Given the description of an element on the screen output the (x, y) to click on. 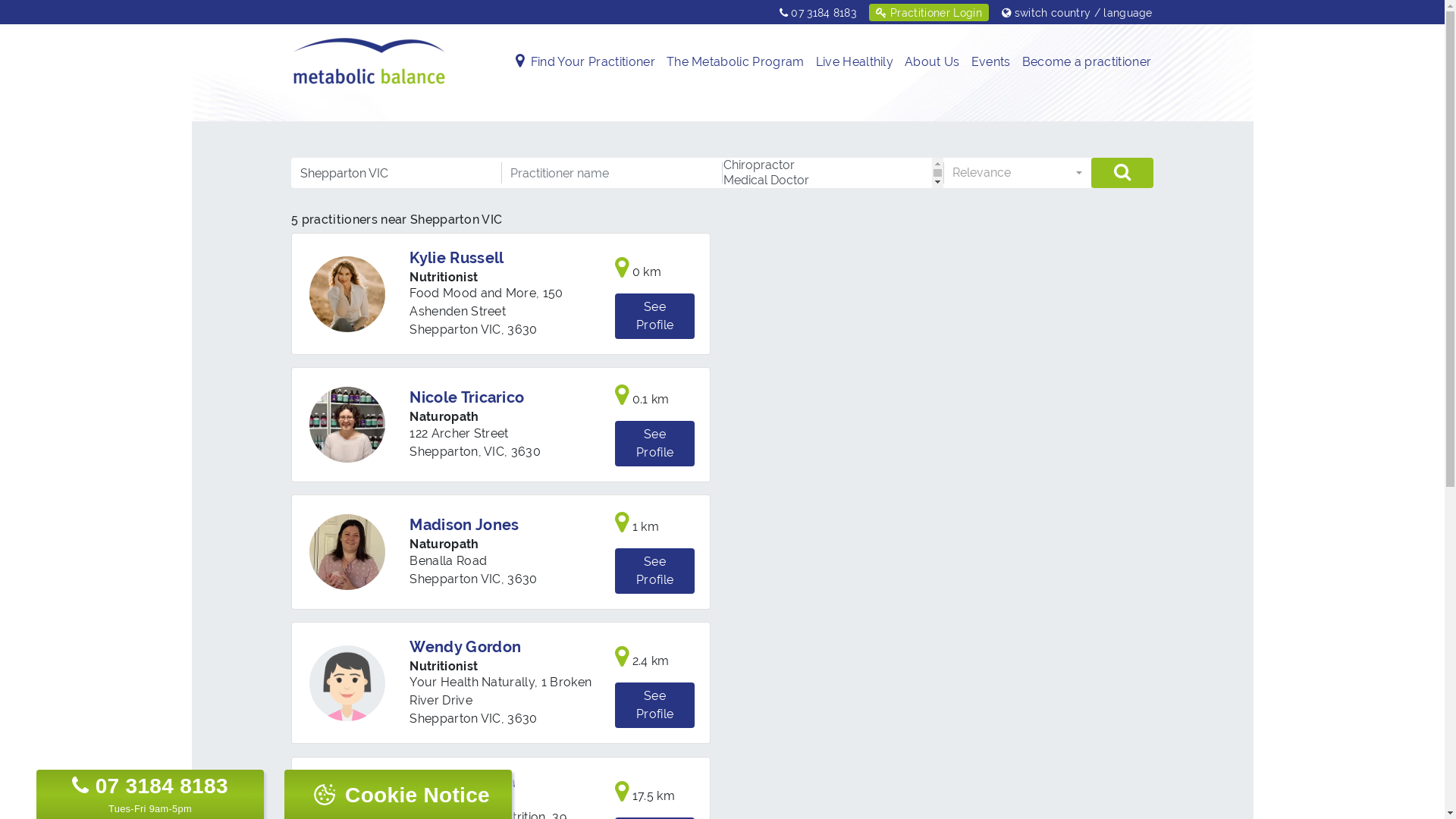
3630 Element type: text (522, 578)
Practitioner Login Element type: text (928, 12)
Naturopath Element type: text (443, 417)
3630 Element type: text (522, 719)
Madison Jones Element type: hover (347, 551)
Shepparton VIC Element type: text (454, 329)
Find Your Practitioner Element type: text (592, 61)
3630 Element type: text (525, 451)
About Us Element type: text (932, 61)
Kylie Russell Element type: hover (347, 292)
Nutritionist Element type: text (443, 276)
Nicole Tricarico Element type: hover (347, 424)
Nutritionist Element type: text (443, 800)
Become a practitioner Element type: text (1086, 61)
Events Element type: text (990, 61)
Wendy Gordon Element type: hover (347, 696)
Nutritionist Element type: text (443, 665)
07 3184 8183 Element type: text (817, 12)
Shepparton VIC Element type: text (454, 578)
See Profile Element type: text (654, 315)
Shepparton VIC Element type: text (454, 719)
See Profile Element type: text (654, 570)
Wendy Gordon Element type: text (464, 646)
See Profile Element type: text (654, 443)
Diana Miranda Element type: text (461, 781)
Live Healthily Element type: text (854, 61)
3630 Element type: text (522, 329)
Kylie Russell Element type: text (456, 257)
See Profile Element type: text (654, 705)
The Metabolic Program Element type: text (735, 61)
07 3184 8183 Element type: text (149, 785)
switch country / language Element type: text (1075, 12)
Madison Jones Element type: text (463, 525)
Shepparton, VIC Element type: text (456, 451)
Naturopath Element type: text (443, 544)
Nicole Tricarico Element type: text (466, 398)
